Given the description of an element on the screen output the (x, y) to click on. 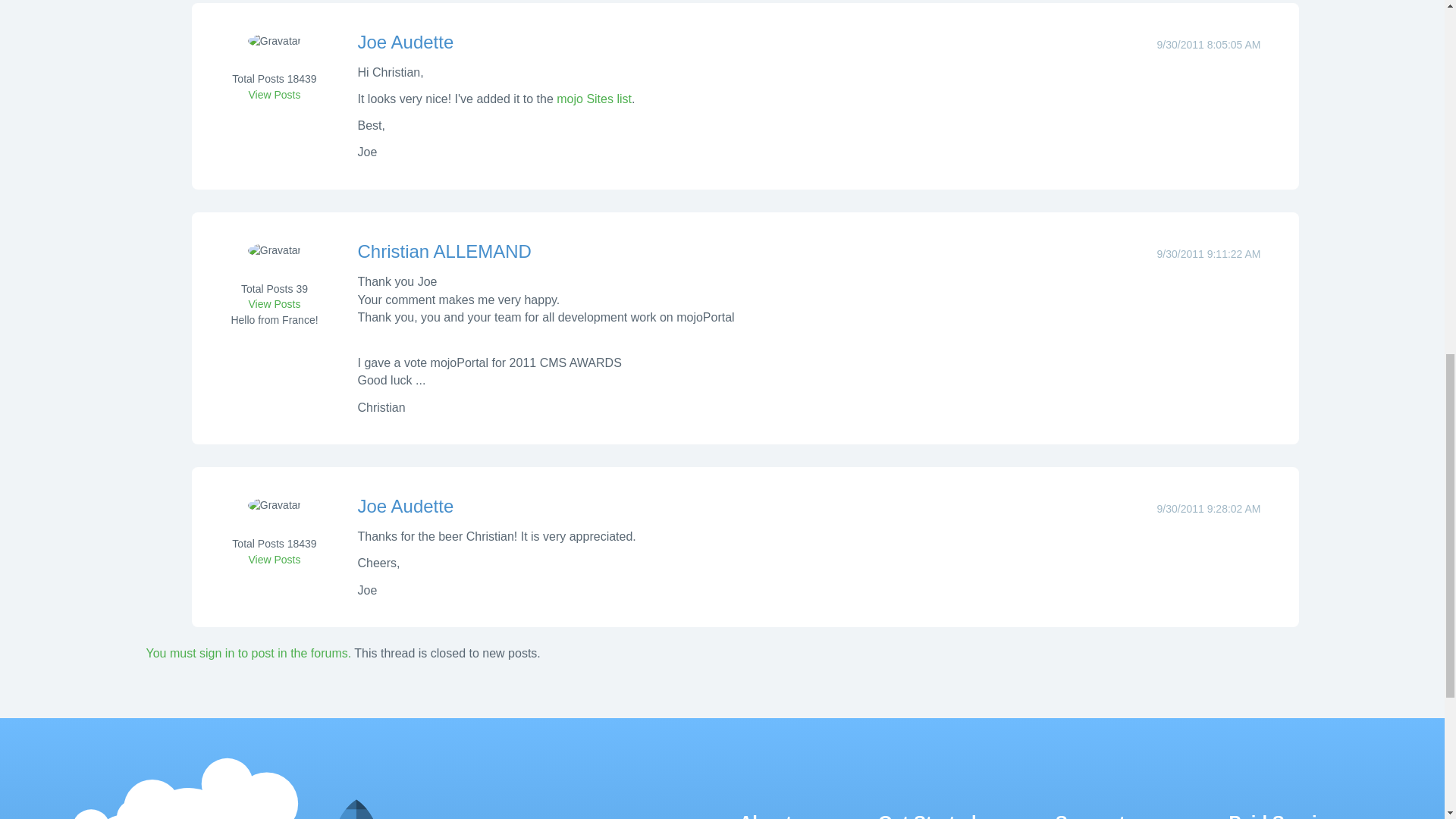
Get your avatar (274, 51)
Get your avatar (274, 515)
Get your avatar (274, 260)
